Given the description of an element on the screen output the (x, y) to click on. 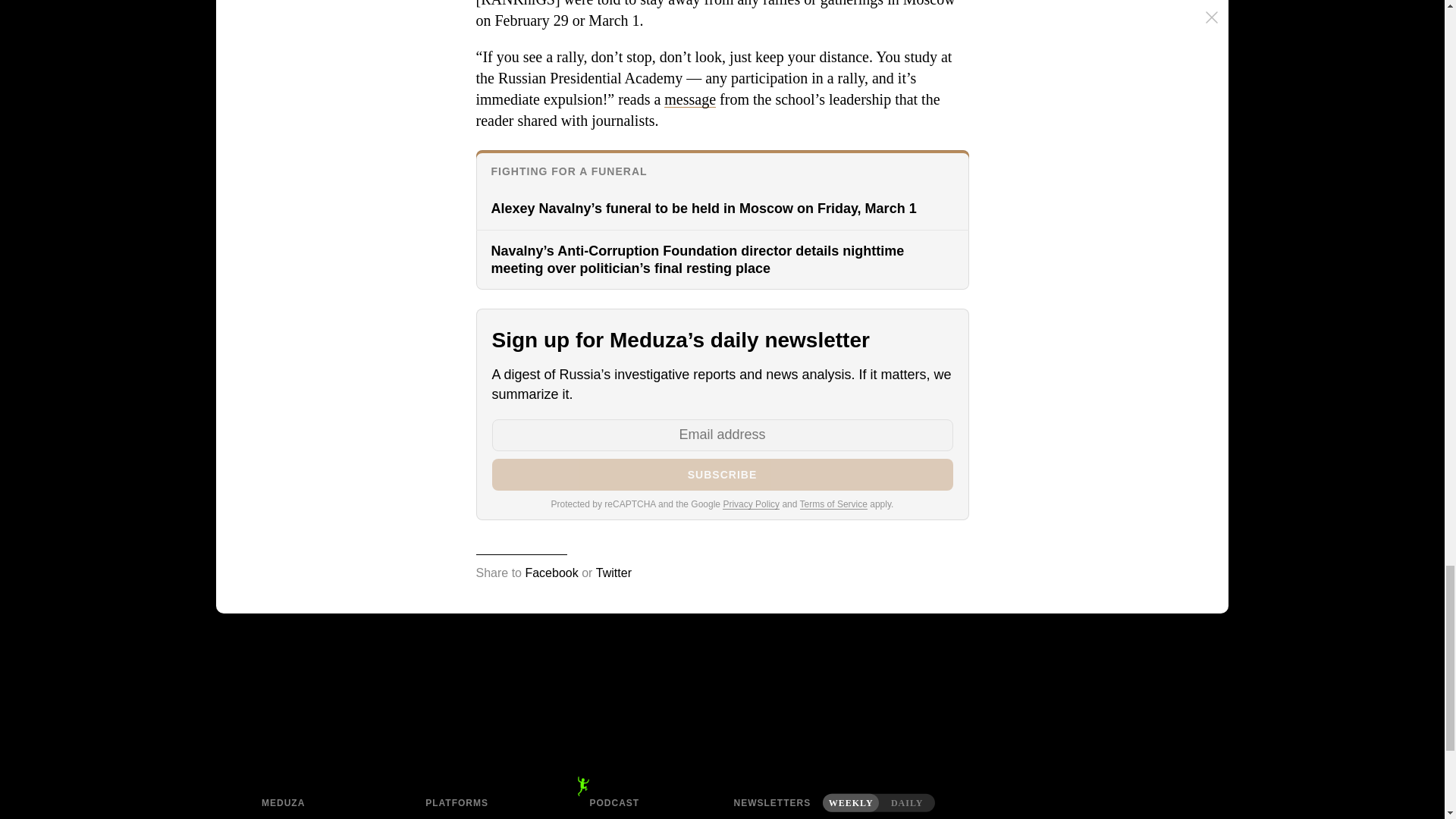
Terms of Service (833, 503)
Twitter (613, 572)
Facebook (551, 572)
About (322, 816)
message (689, 98)
Privacy Policy (750, 503)
Facebook (486, 816)
SUBSCRIBE (722, 474)
